Given the description of an element on the screen output the (x, y) to click on. 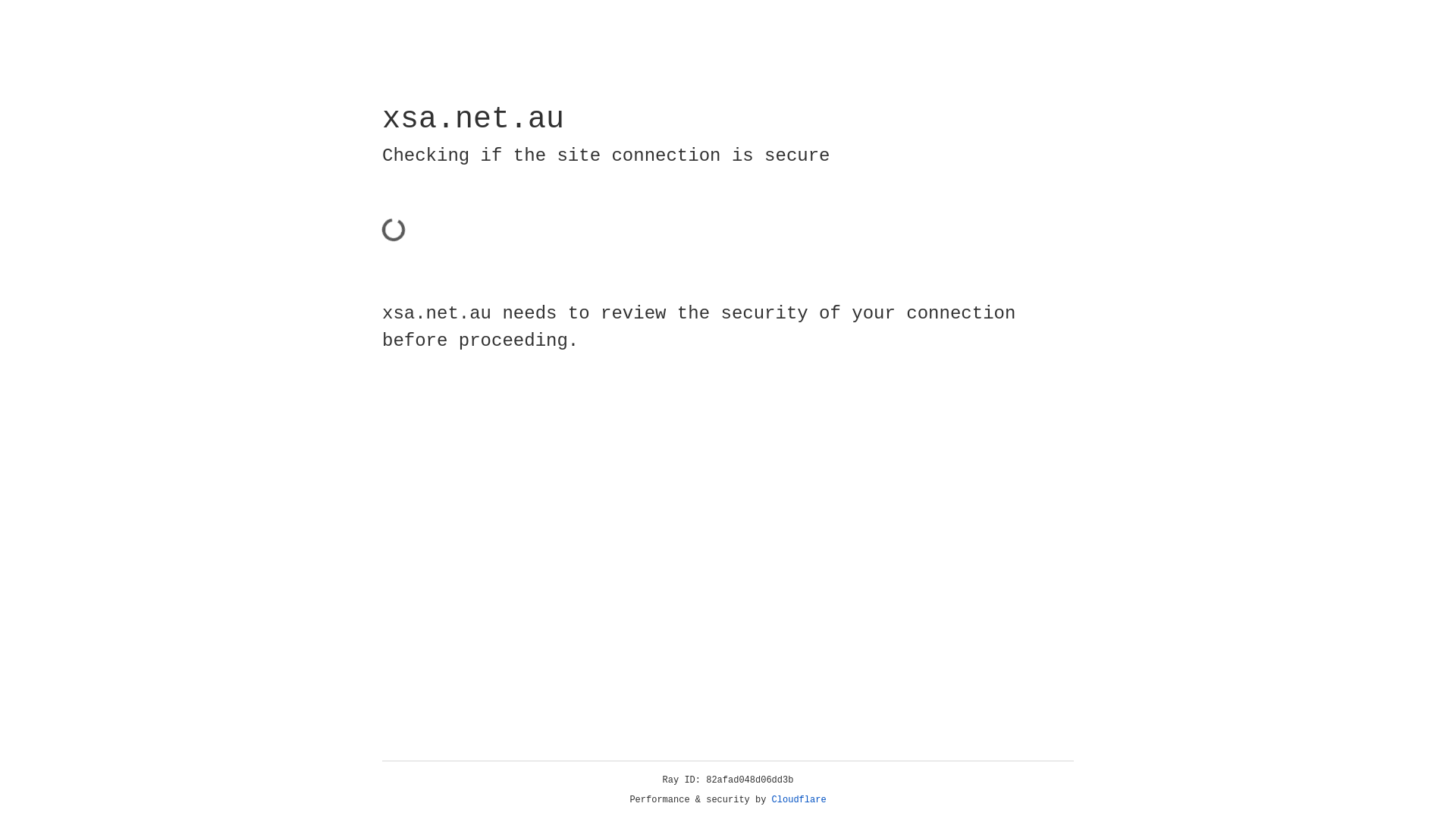
Cloudflare Element type: text (798, 799)
